Given the description of an element on the screen output the (x, y) to click on. 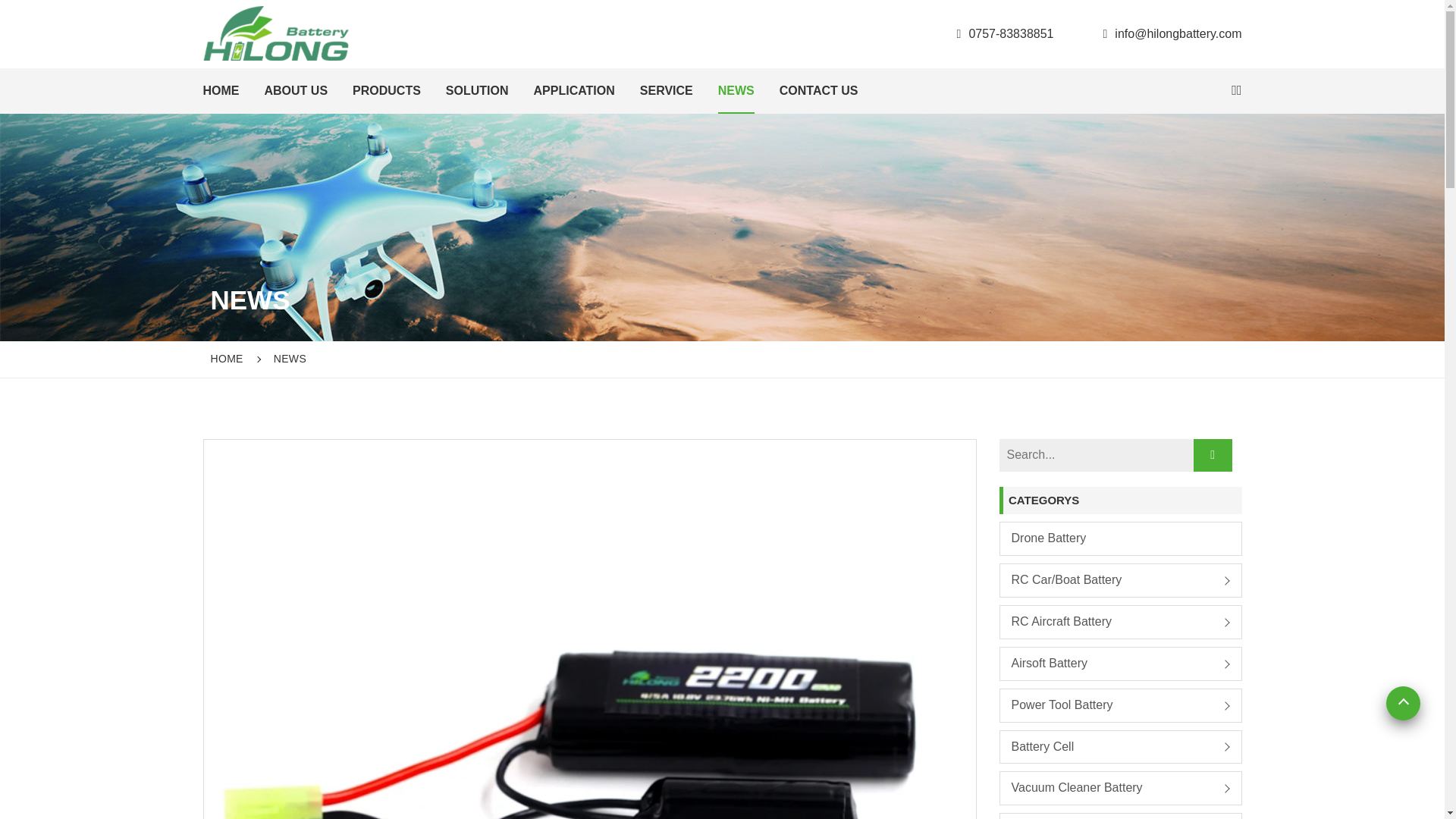
PRODUCTS (386, 90)
Exploring the Advantages of Ni-MH Airsoft Battery-NEWS (276, 32)
ABOUT US (295, 90)
PRODUCTS (386, 90)
ABOUT US (295, 90)
